Given the description of an element on the screen output the (x, y) to click on. 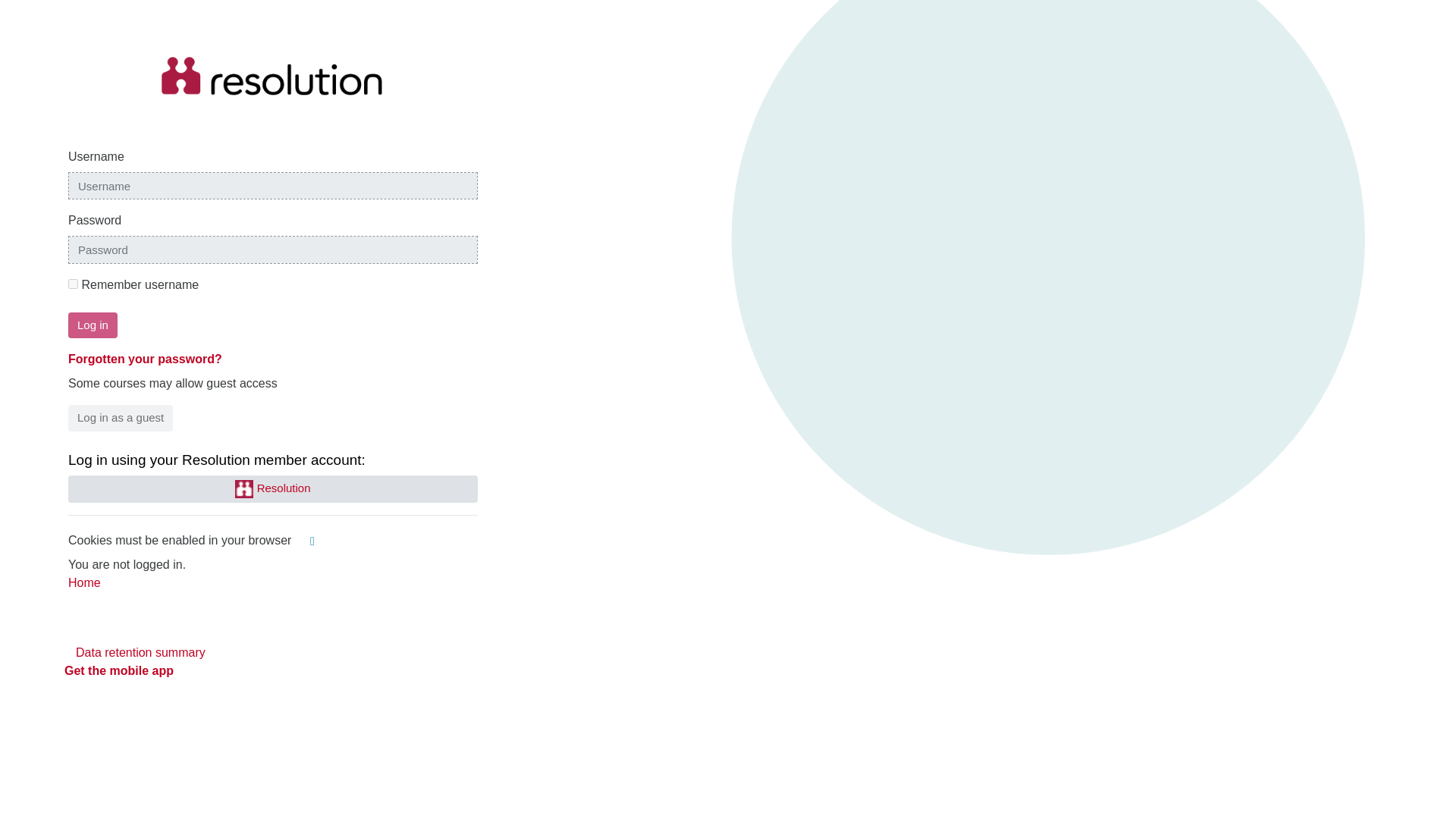
Get the mobile app (118, 670)
Help with Cookies must be enabled in your browser (312, 541)
Resolution (272, 488)
Resolution (272, 488)
Learn Resolution (272, 75)
Data retention summary (140, 652)
Log in as a guest (120, 417)
Log in (92, 325)
Forgotten your password? (145, 358)
1 (73, 284)
Home (84, 582)
